Given the description of an element on the screen output the (x, y) to click on. 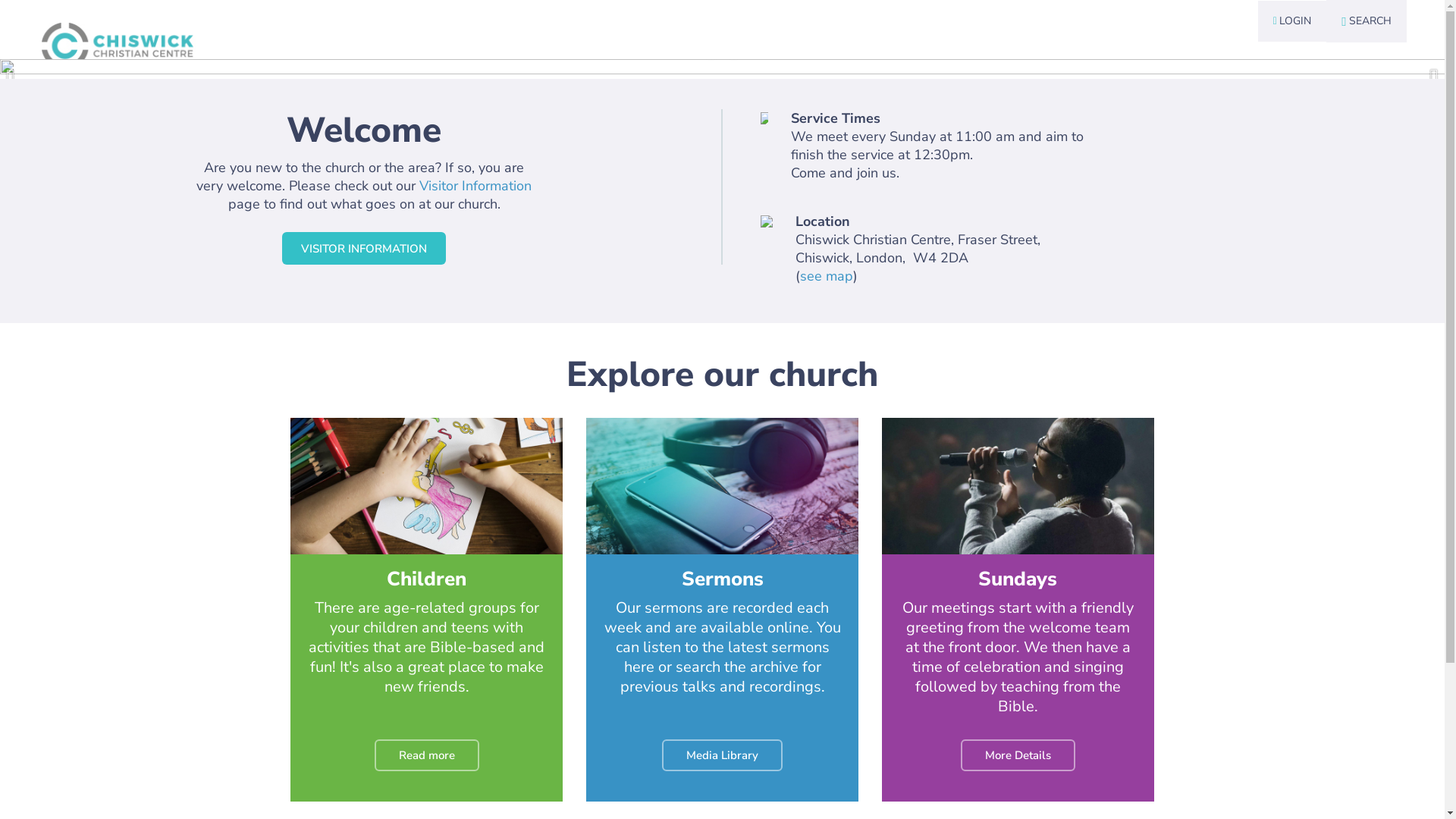
Sundays Element type: text (1017, 578)
Visitor Information Element type: text (475, 185)
 SEARCH Element type: text (1366, 21)
Read more Element type: text (426, 755)
 LOGIN Element type: text (1292, 20)
Media Library Element type: text (722, 755)
VISITOR INFORMATION Element type: text (363, 248)
Children Element type: text (426, 578)
Prev Element type: text (37, 68)
Sermons Element type: text (721, 578)
More Details Element type: text (1017, 755)
Next Element type: text (1406, 68)
see map Element type: text (825, 275)
